Given the description of an element on the screen output the (x, y) to click on. 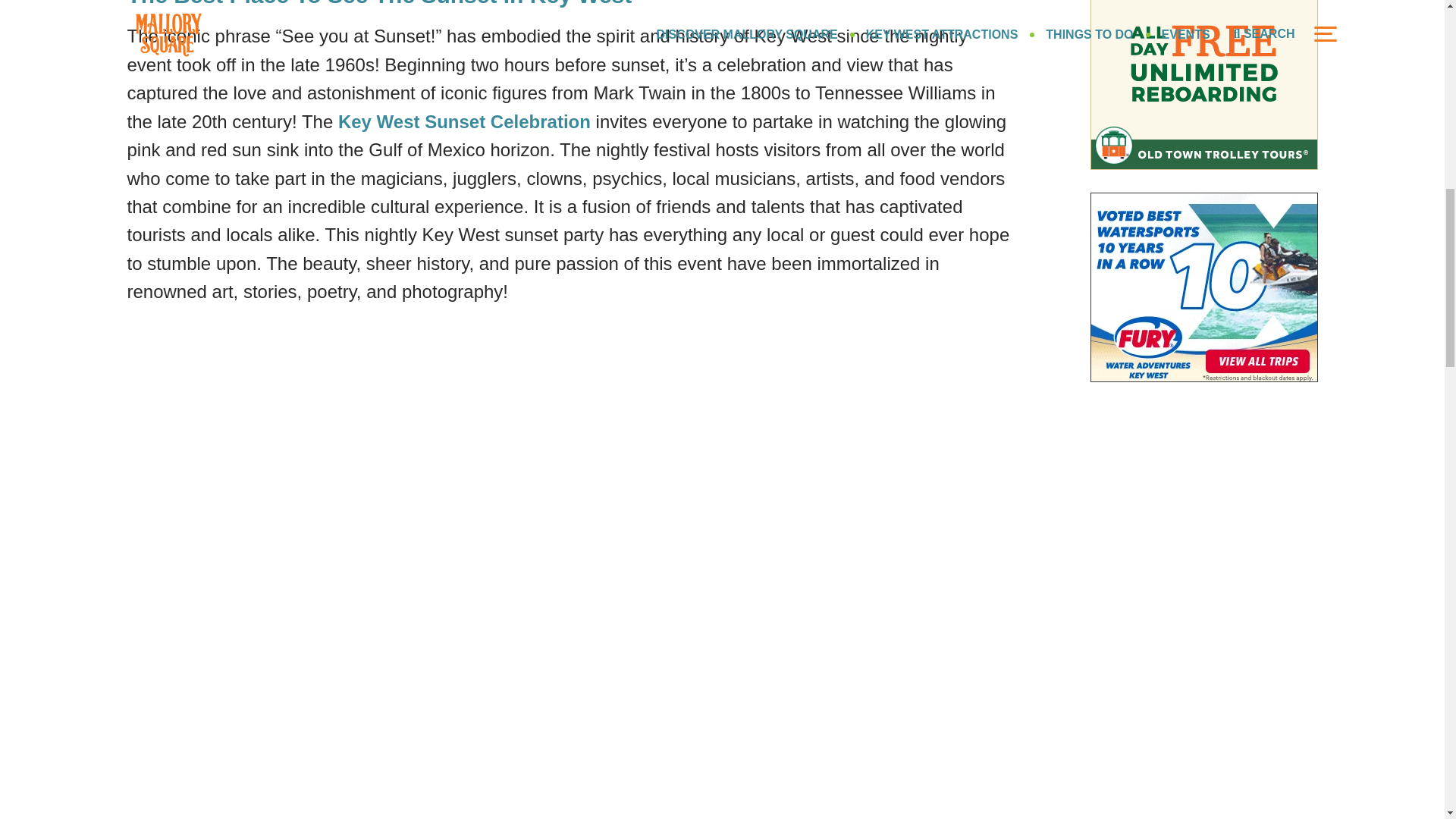
advertisement iframe (1203, 84)
Fury 10X Promo 2024 (1203, 287)
advertisement iframe (1203, 733)
Ctt 14 Off (1203, 514)
